Given the description of an element on the screen output the (x, y) to click on. 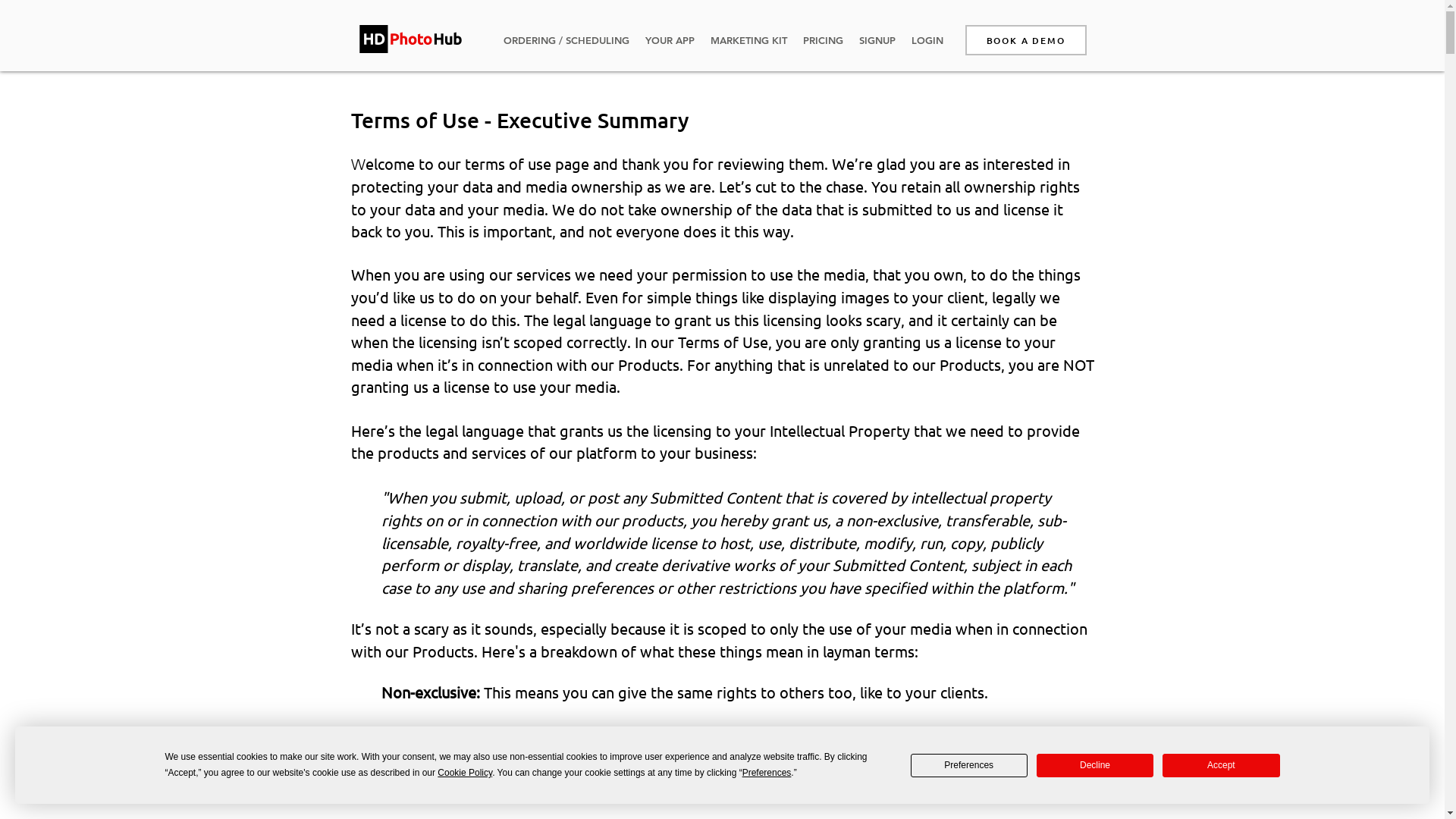
MARKETING KIT Element type: text (748, 39)
Accept Element type: text (1220, 765)
BOOK A DEMO Element type: text (1024, 40)
Decline Element type: text (1094, 765)
YOUR APP Element type: text (669, 39)
ORDERING / SCHEDULING Element type: text (565, 39)
Preferences Element type: text (968, 765)
LOGIN Element type: text (926, 39)
PRICING Element type: text (822, 39)
SIGNUP Element type: text (876, 39)
